Given the description of an element on the screen output the (x, y) to click on. 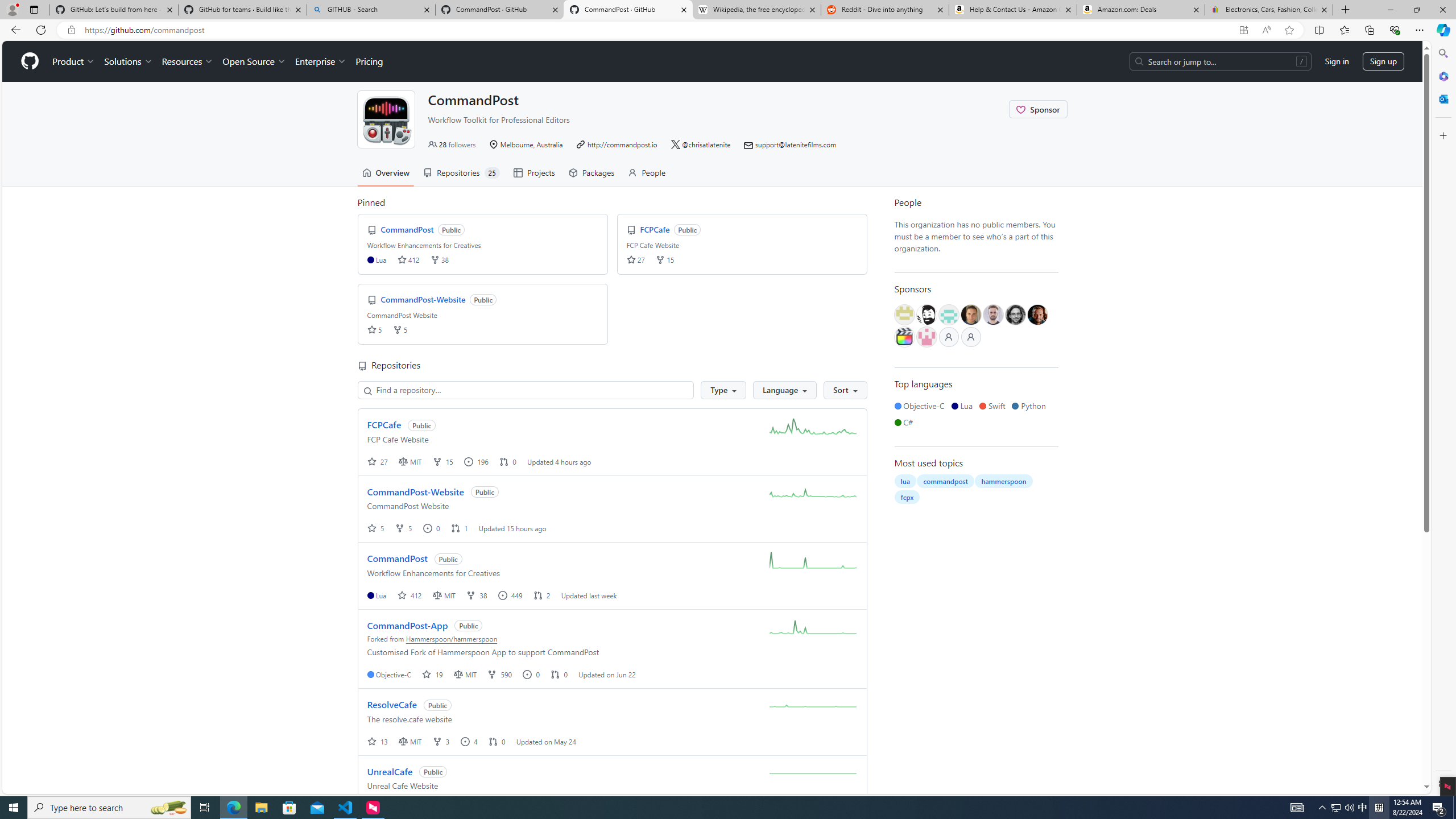
stars (371, 329)
@davvidavvi (1037, 314)
Wikipedia, the free encyclopedia (756, 9)
commandpost (945, 481)
 5  (375, 528)
forks 38 (438, 259)
@lamer40 (970, 314)
@samplue (992, 314)
Python (1030, 405)
